Given the description of an element on the screen output the (x, y) to click on. 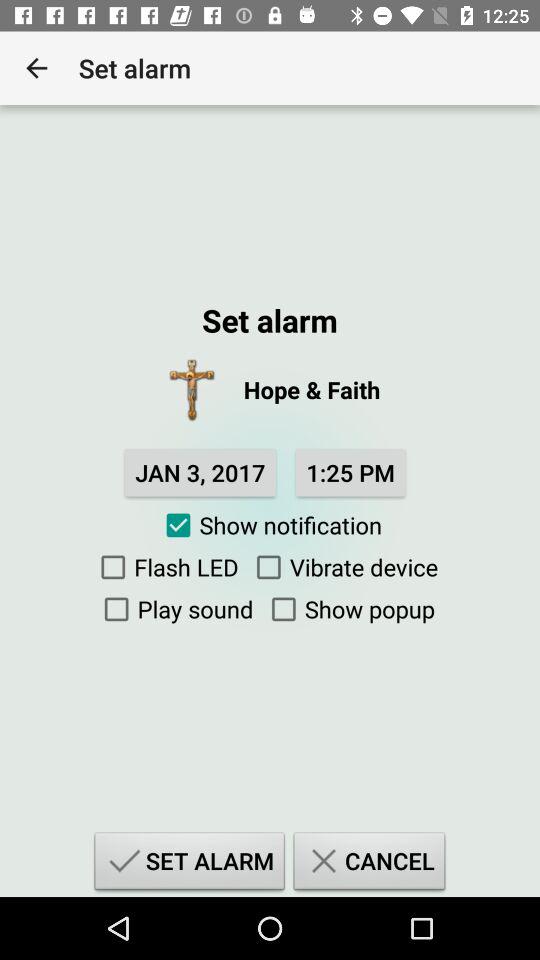
scroll until the jan 3, 2017 icon (200, 472)
